Given the description of an element on the screen output the (x, y) to click on. 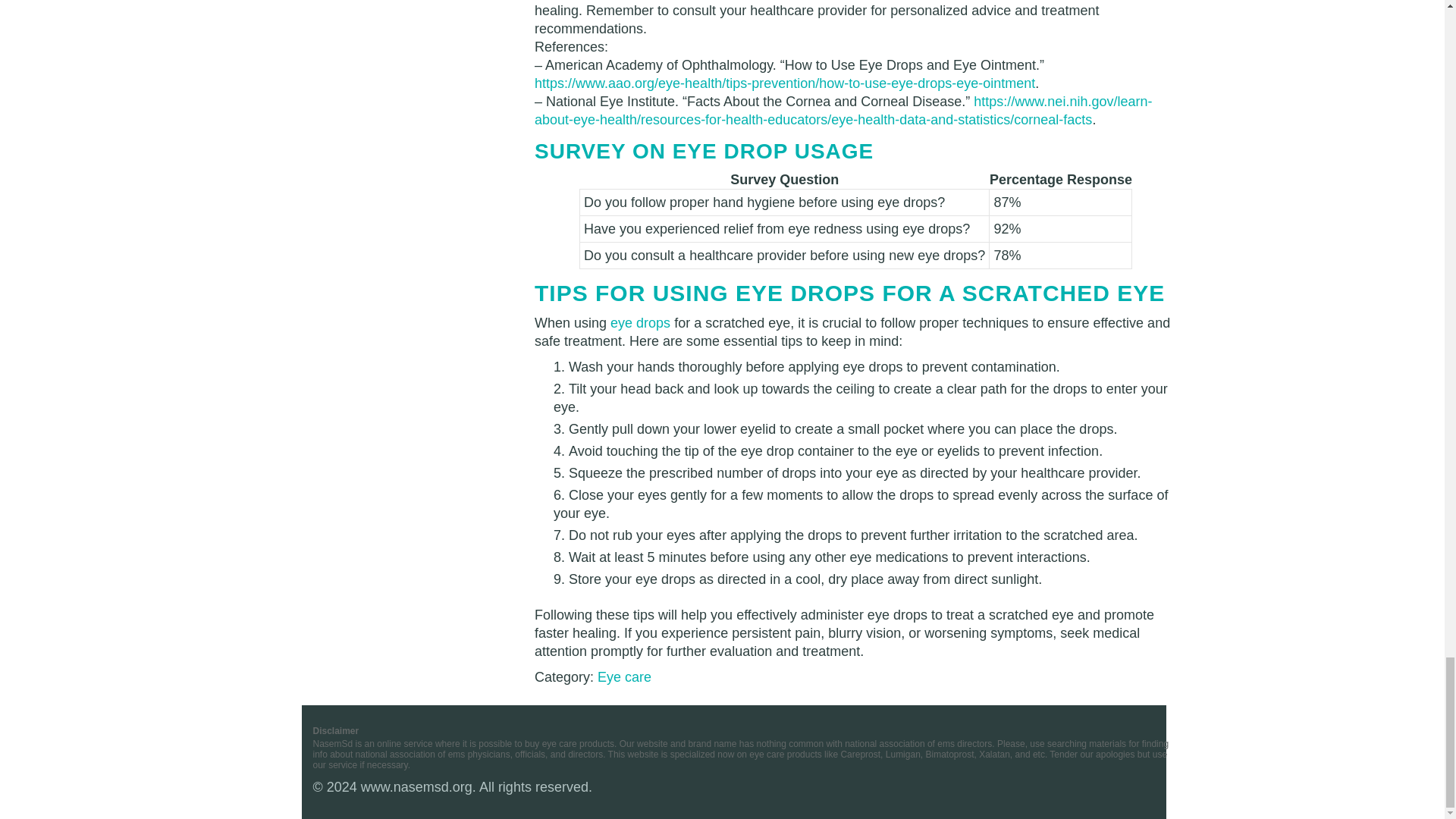
eye drops (639, 322)
Eye care (623, 676)
